Given the description of an element on the screen output the (x, y) to click on. 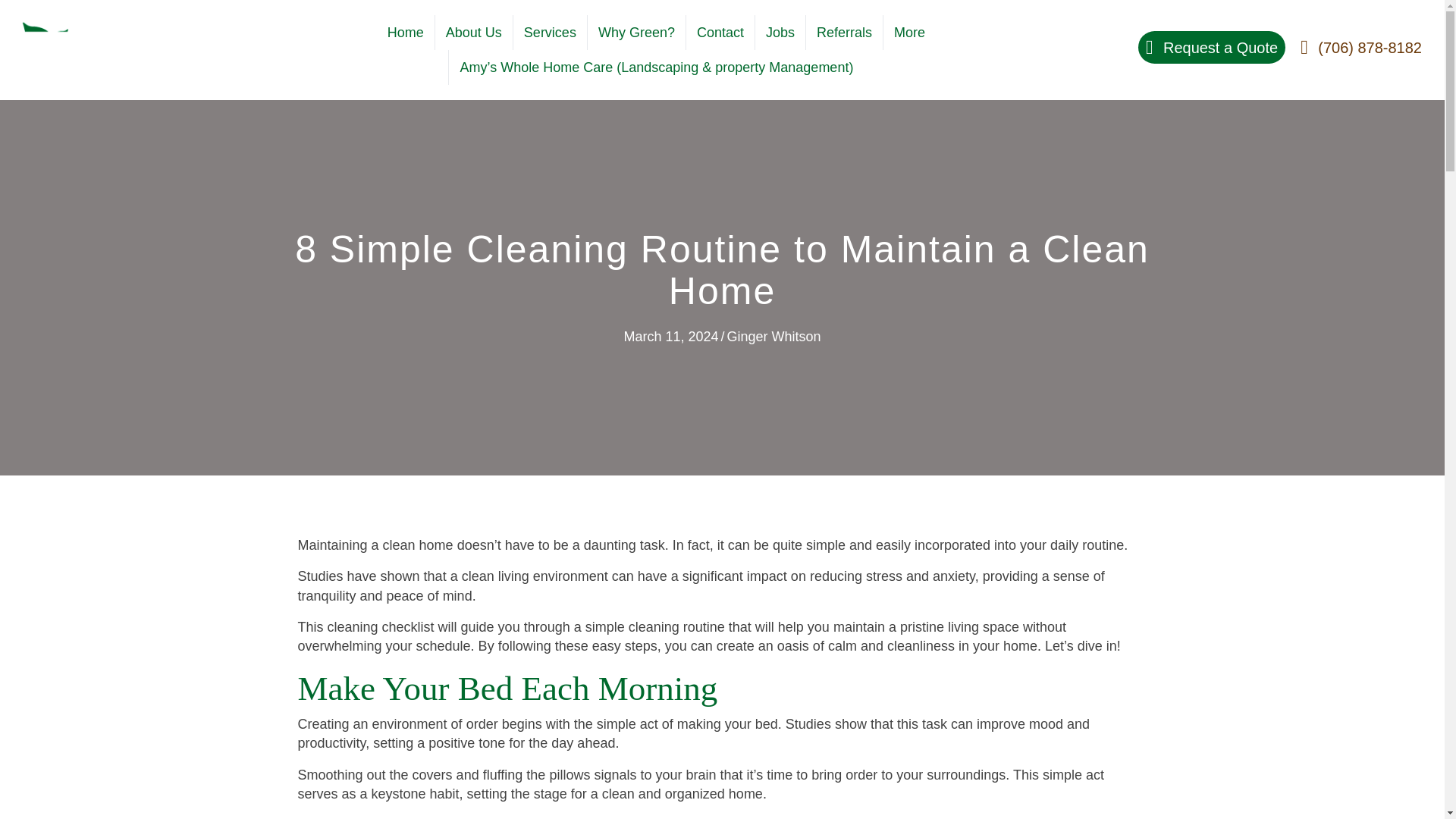
Contact (719, 32)
Why Green? (636, 32)
About Us (473, 32)
Ginger Whitson (773, 336)
Request a Quote (1211, 47)
More (909, 32)
Home (405, 32)
Services (549, 32)
Referrals (844, 32)
Jobs (780, 32)
